Given the description of an element on the screen output the (x, y) to click on. 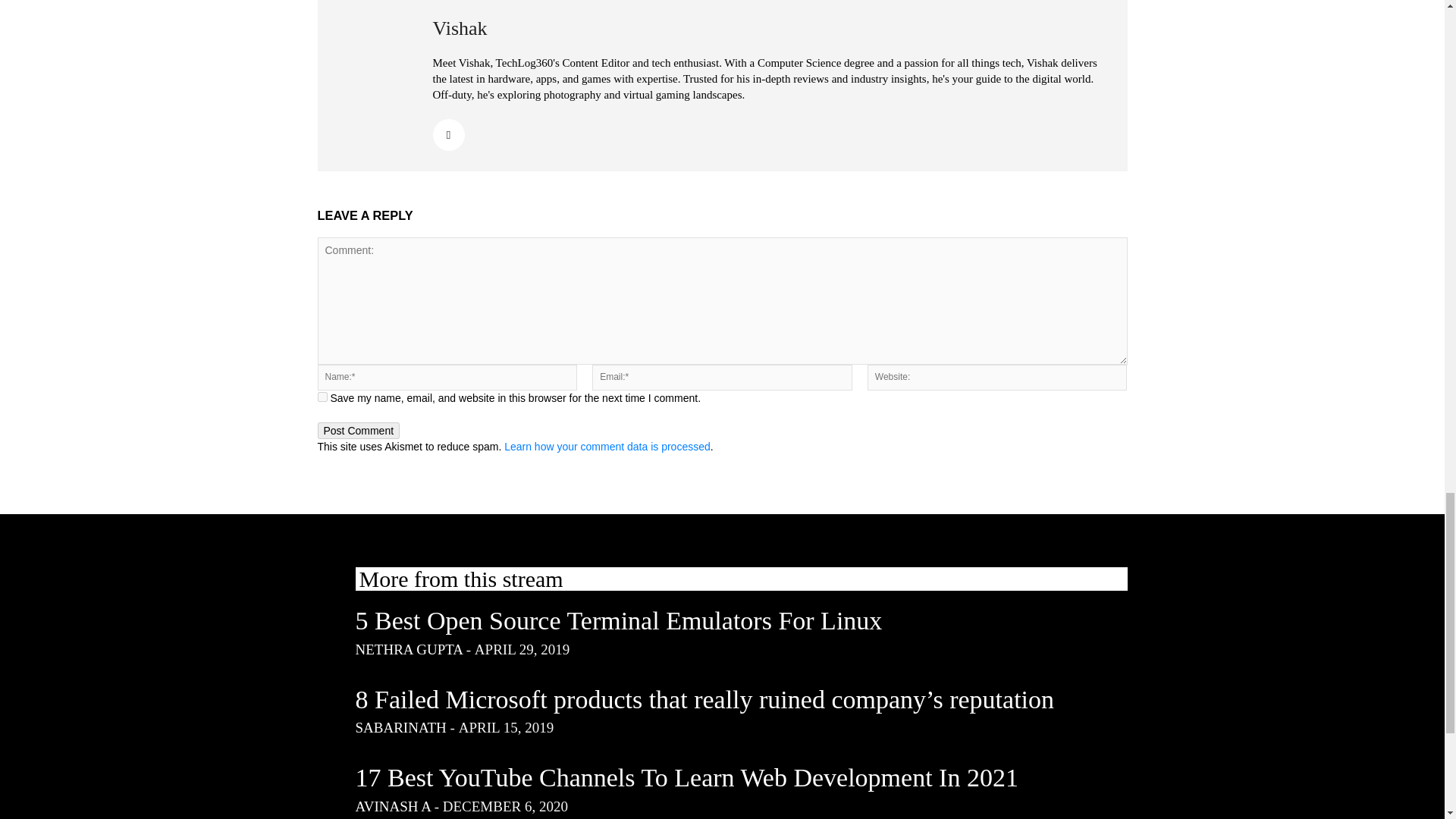
yes (321, 397)
Post Comment (357, 430)
